Given the description of an element on the screen output the (x, y) to click on. 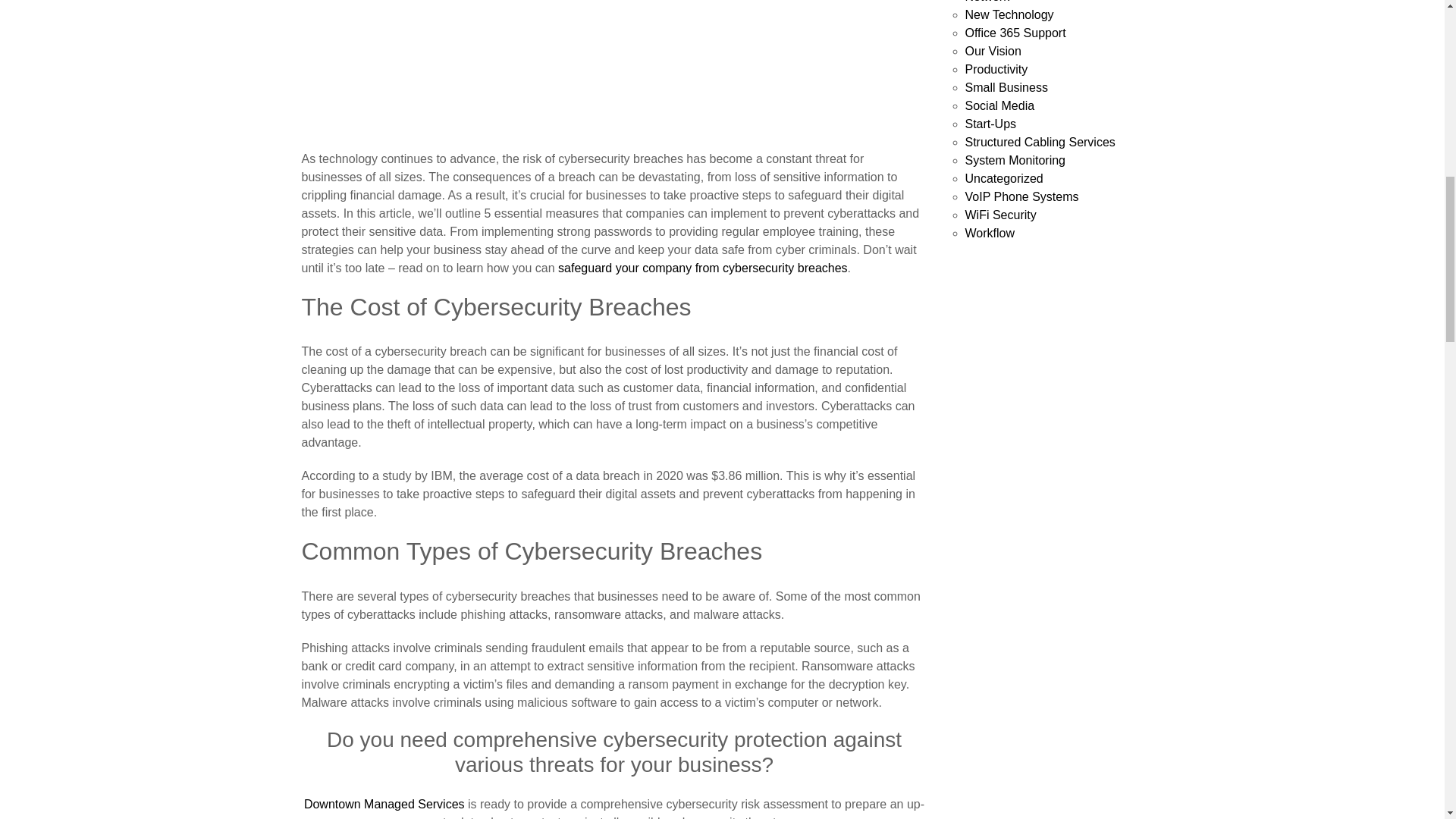
Downtown Managed Services (384, 803)
safeguard your company from cybersecurity breaches (702, 267)
safeguard your company from cybersecurity breaches (702, 267)
Downtown Managed Services (384, 803)
